Given the description of an element on the screen output the (x, y) to click on. 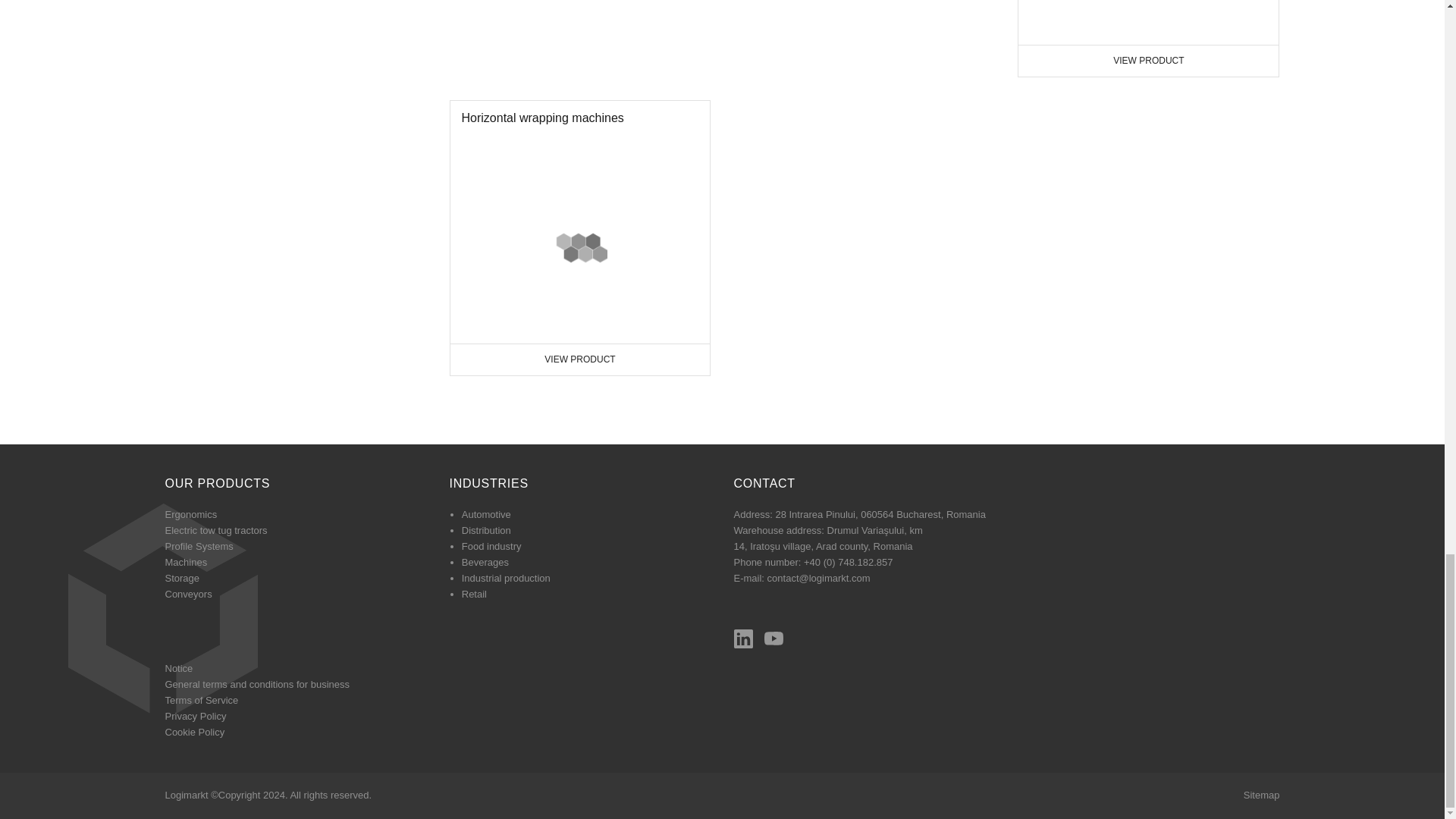
Ergonomics (579, 237)
Profile Systems (190, 514)
Presa verticala automata pentru deseuri (198, 546)
Machines (1147, 22)
Electric tow tug tractors (1148, 38)
